Given the description of an element on the screen output the (x, y) to click on. 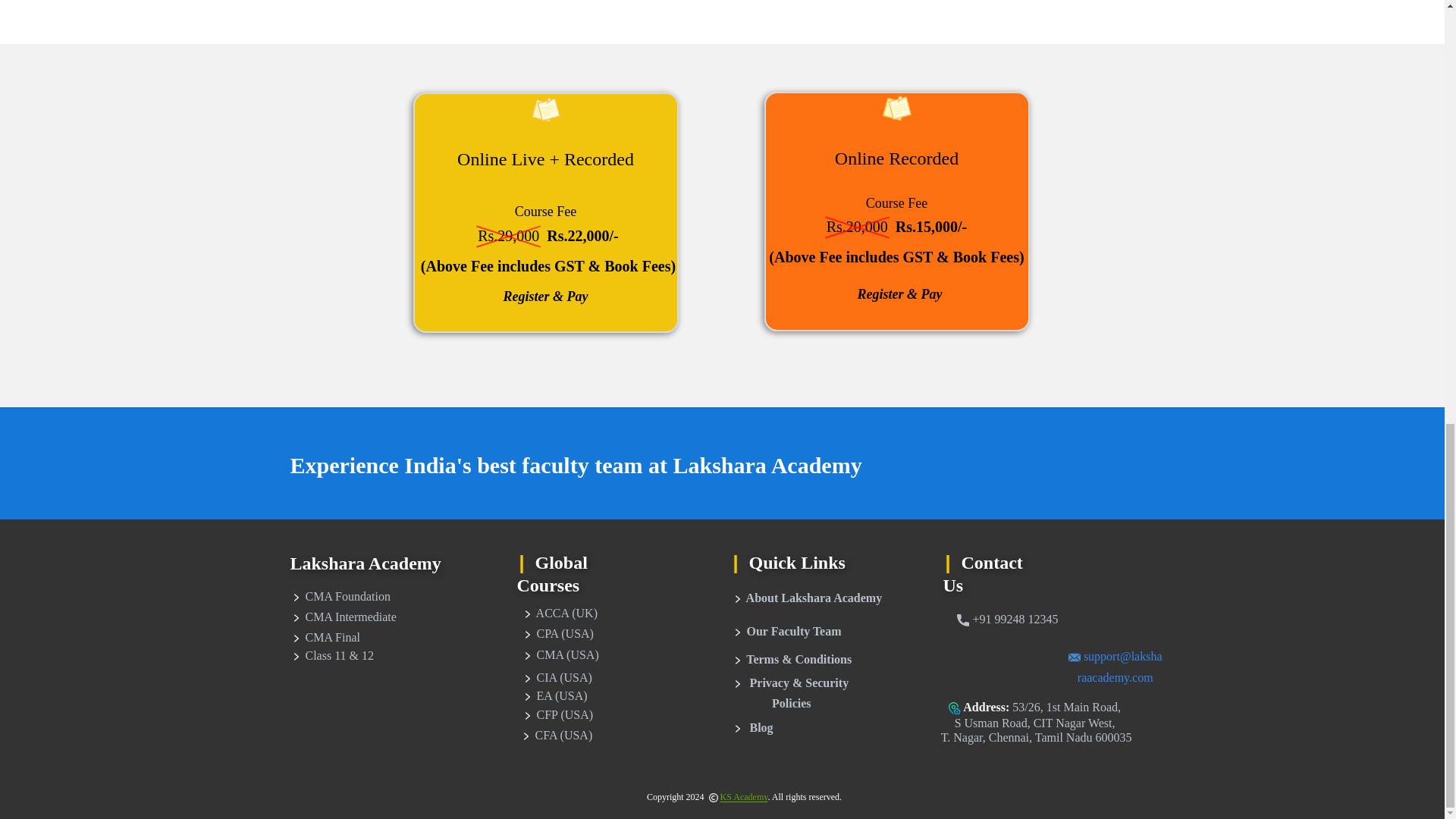
 About Lakshara Academy (806, 598)
 Our Faculty Team (785, 631)
 CMA Foundation (339, 597)
 CMA Intermediate (342, 617)
 CMA Final (324, 638)
  Blog (751, 728)
